Given the description of an element on the screen output the (x, y) to click on. 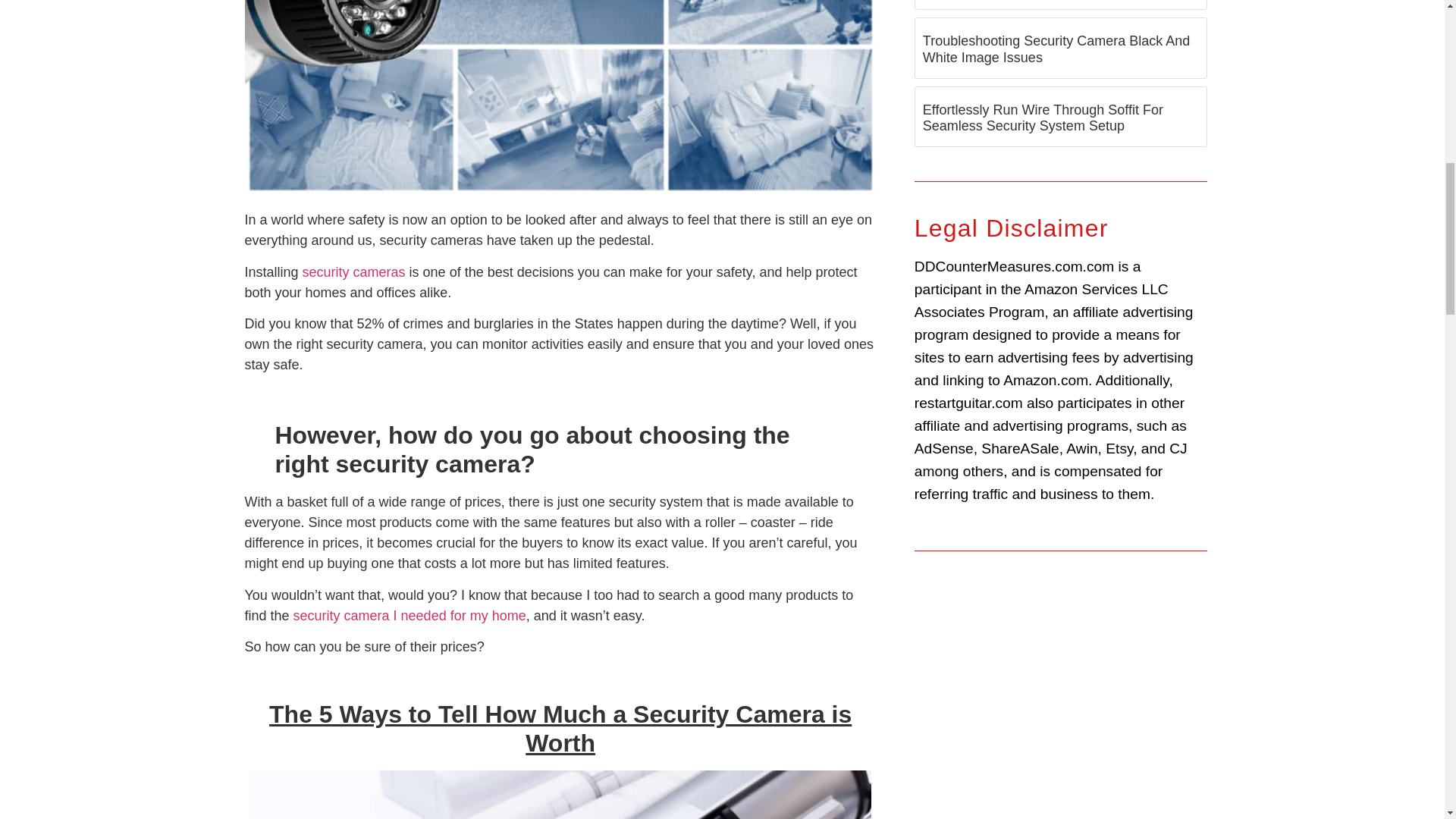
Person Hand Using Home Security System On Mobilephone (559, 794)
Troubleshooting Security Camera Black And White Image Issues (1057, 49)
security cameras (354, 272)
security camera I needed for my home (409, 615)
